Given the description of an element on the screen output the (x, y) to click on. 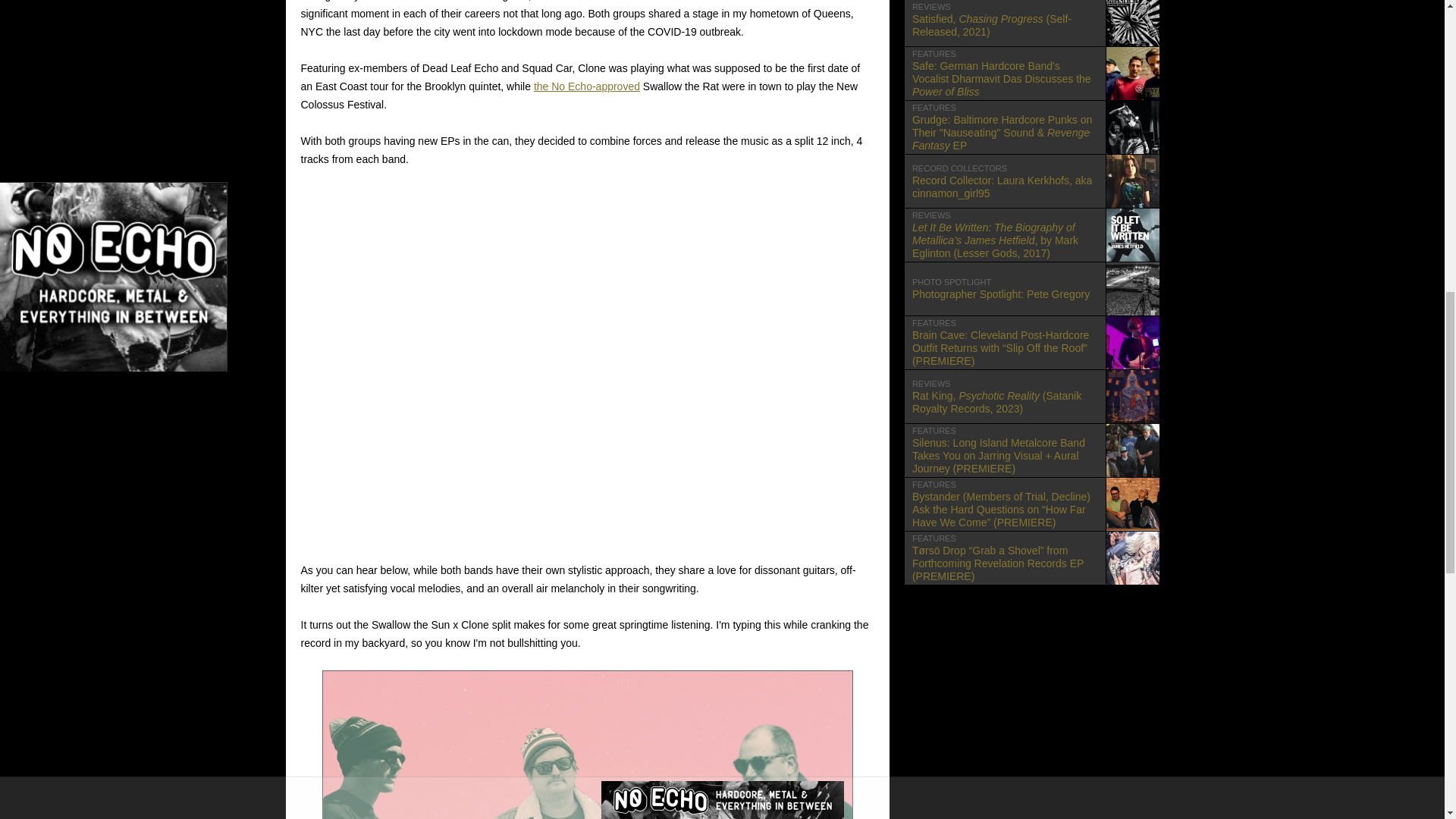
the No Echo-approved (587, 86)
